Given the description of an element on the screen output the (x, y) to click on. 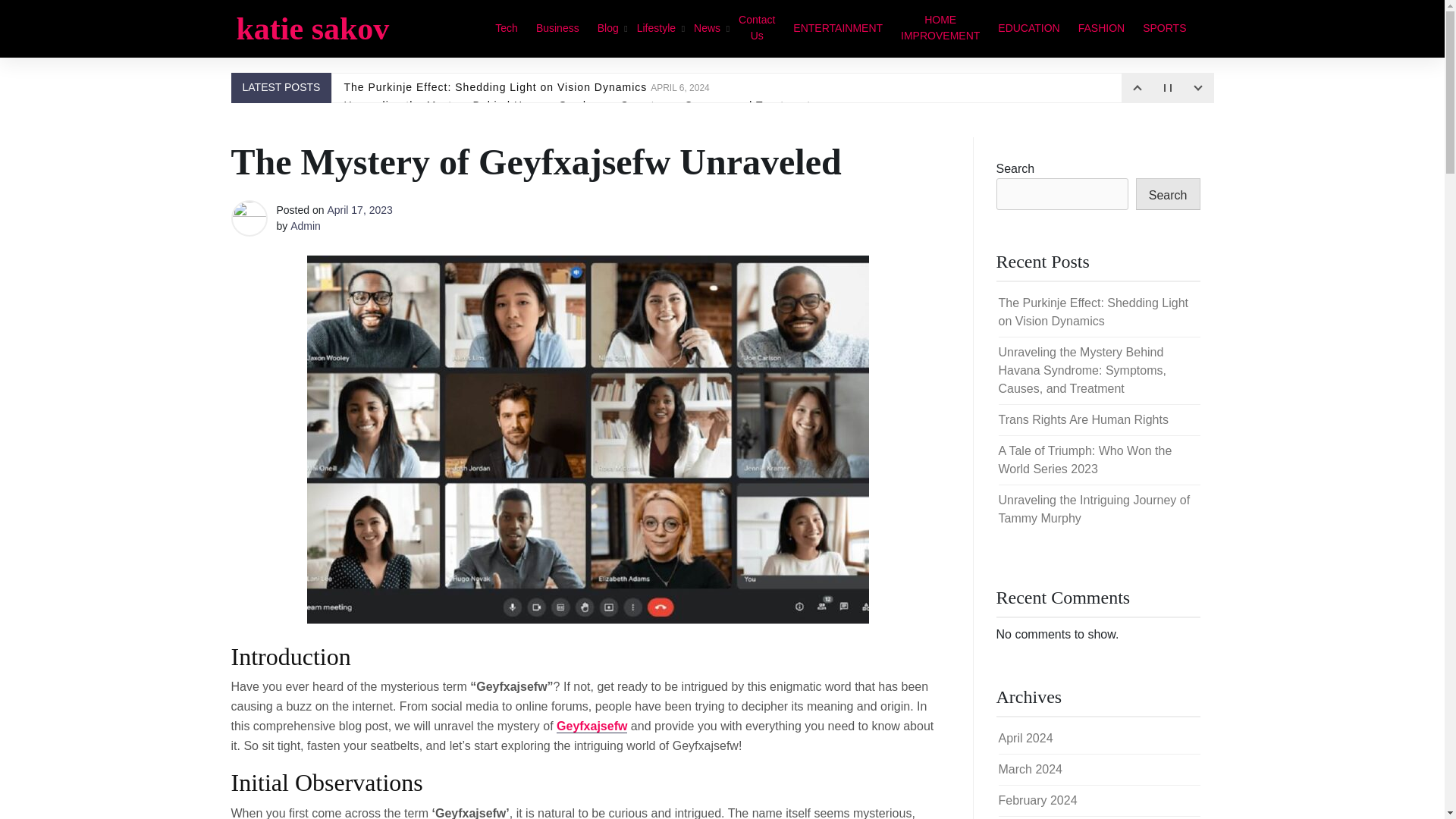
FASHION (1101, 28)
April 17, 2023 (358, 209)
The Purkinje Effect: Shedding Light on Vision Dynamics (1092, 311)
Geyfxajsefw (591, 726)
SPORTS (1164, 28)
katie sakov (312, 28)
Business (557, 28)
Tech (506, 28)
News (706, 28)
